Given the description of an element on the screen output the (x, y) to click on. 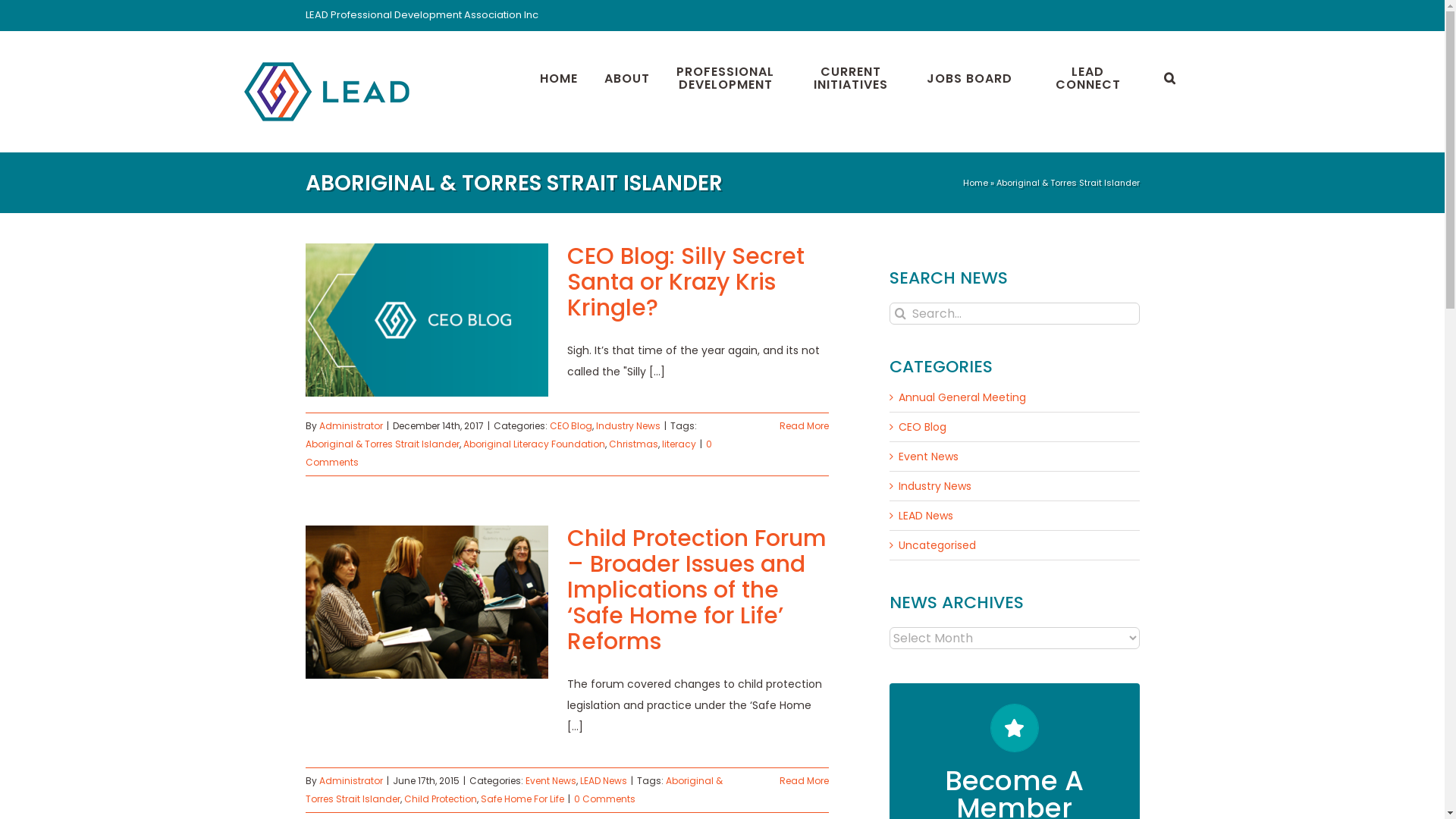
LEAD News Element type: text (602, 780)
0 Comments Element type: text (507, 452)
Aboriginal & Torres Strait Islander Element type: text (512, 789)
Administrator Element type: text (350, 425)
Aboriginal Literacy Foundation Element type: text (533, 443)
Home Element type: text (975, 182)
Uncategorised Element type: text (1014, 545)
0 Comments Element type: text (603, 798)
Event News Element type: text (1014, 456)
CEO Blog: Silly Secret Santa or Krazy Kris Kringle? Element type: text (685, 281)
HOME Element type: text (558, 75)
CEO Blog Element type: text (1014, 426)
LEAD CONNECT Element type: text (1087, 75)
JOBS BOARD Element type: text (969, 75)
Industry News Element type: text (1014, 485)
Read More Element type: text (803, 780)
Event News Element type: text (549, 780)
Aboriginal & Torres Strait Islander Element type: text (381, 443)
Apply Now! Element type: text (1013, 791)
Search Element type: hover (1169, 75)
Safe Home For Life Element type: text (522, 798)
CURRENT INITIATIVES Element type: text (849, 75)
CEO Blog Element type: text (570, 425)
Read More Element type: text (803, 425)
Annual General Meeting Element type: text (1014, 397)
Christmas Element type: text (632, 443)
LEAD News Element type: text (1014, 515)
Administrator Element type: text (350, 780)
Industry News Element type: text (628, 425)
PROFESSIONAL DEVELOPMENT Element type: text (725, 75)
ABOUT Element type: text (626, 75)
literacy Element type: text (678, 443)
Child Protection Element type: text (439, 798)
